Given the description of an element on the screen output the (x, y) to click on. 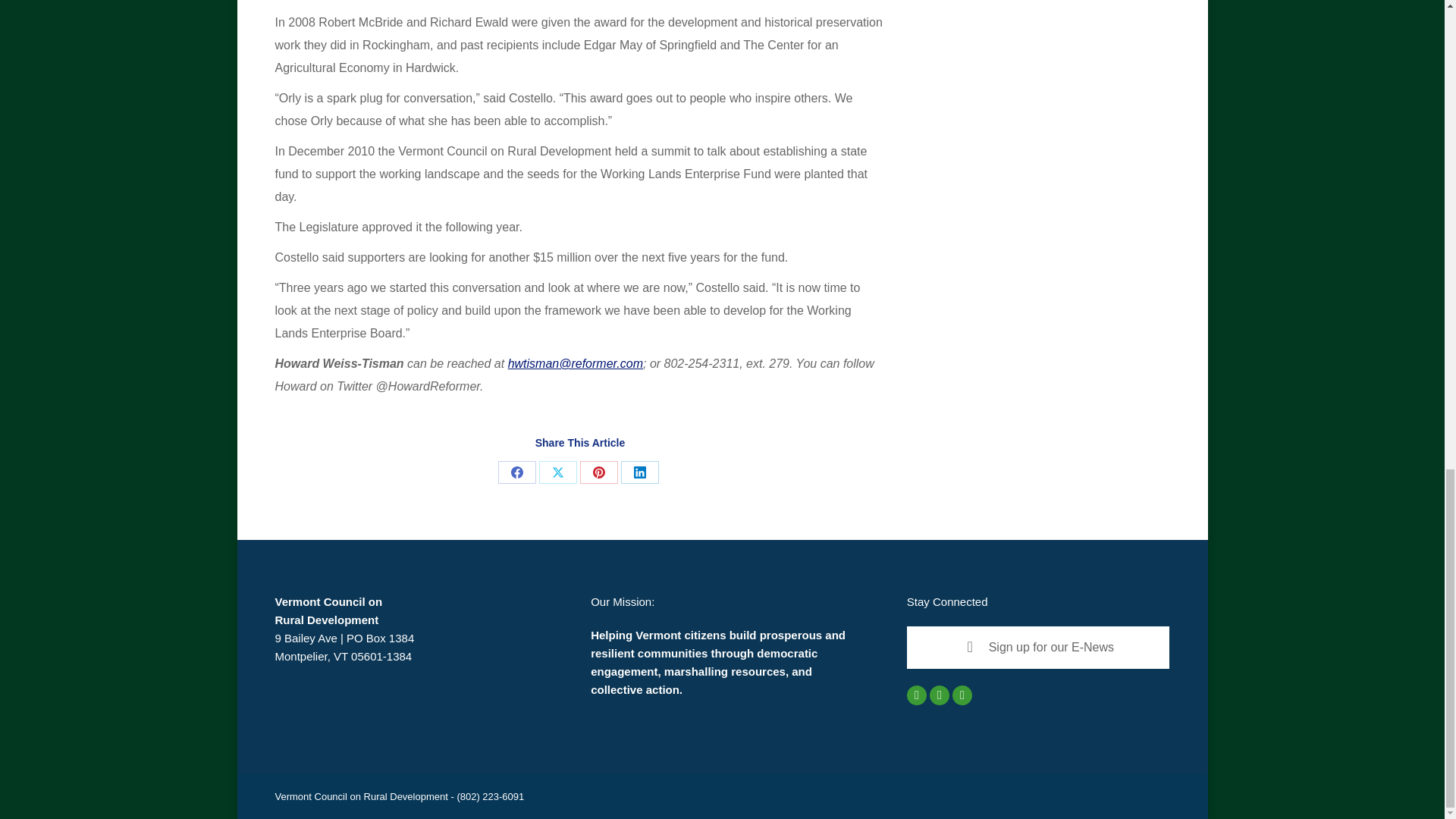
Facebook (516, 472)
LinkedIn (640, 472)
X (557, 472)
Sign up for email communications from VCRD (1038, 647)
Pinterest (598, 472)
